Given the description of an element on the screen output the (x, y) to click on. 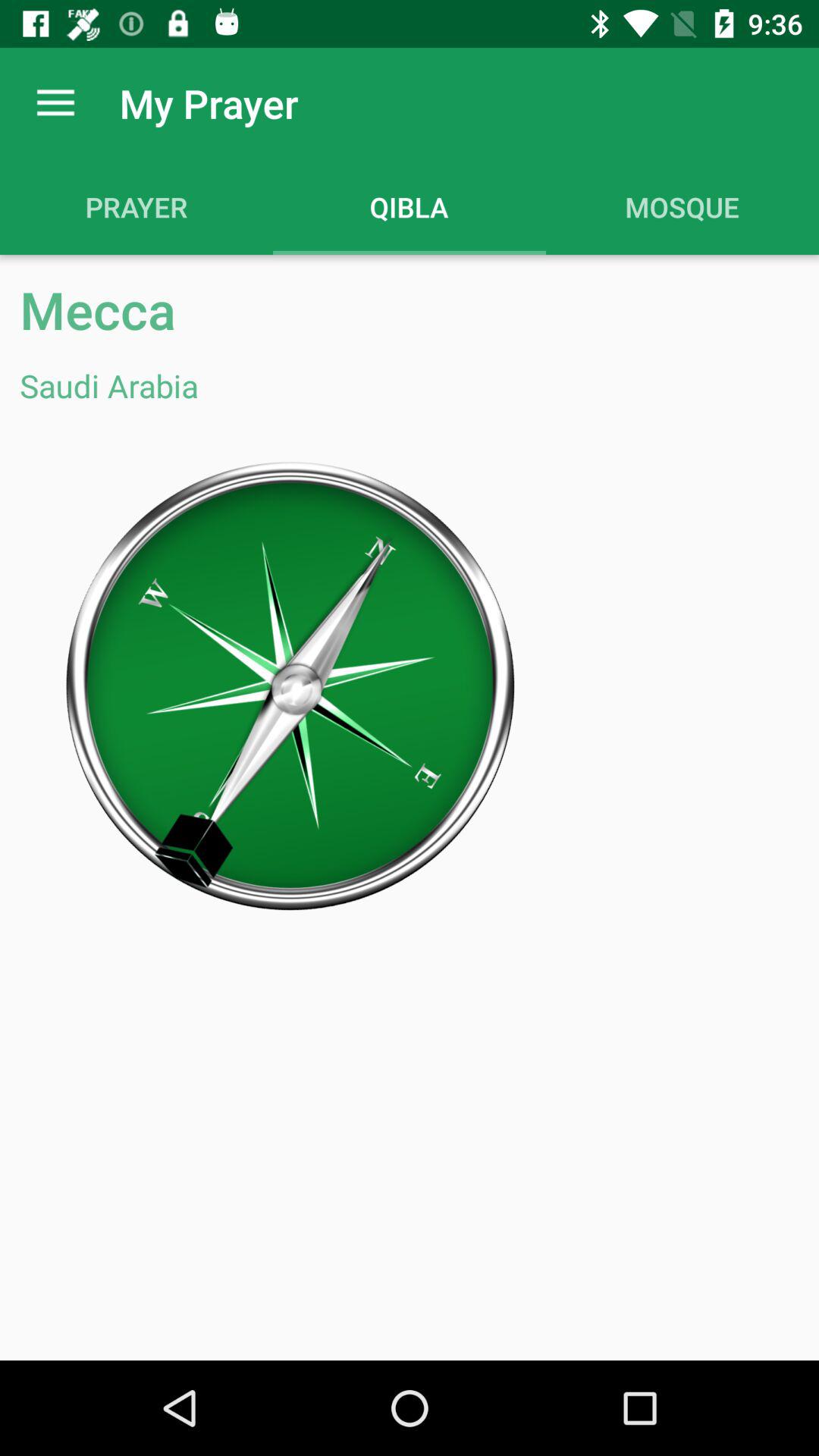
select app to the left of my prayer app (55, 103)
